Given the description of an element on the screen output the (x, y) to click on. 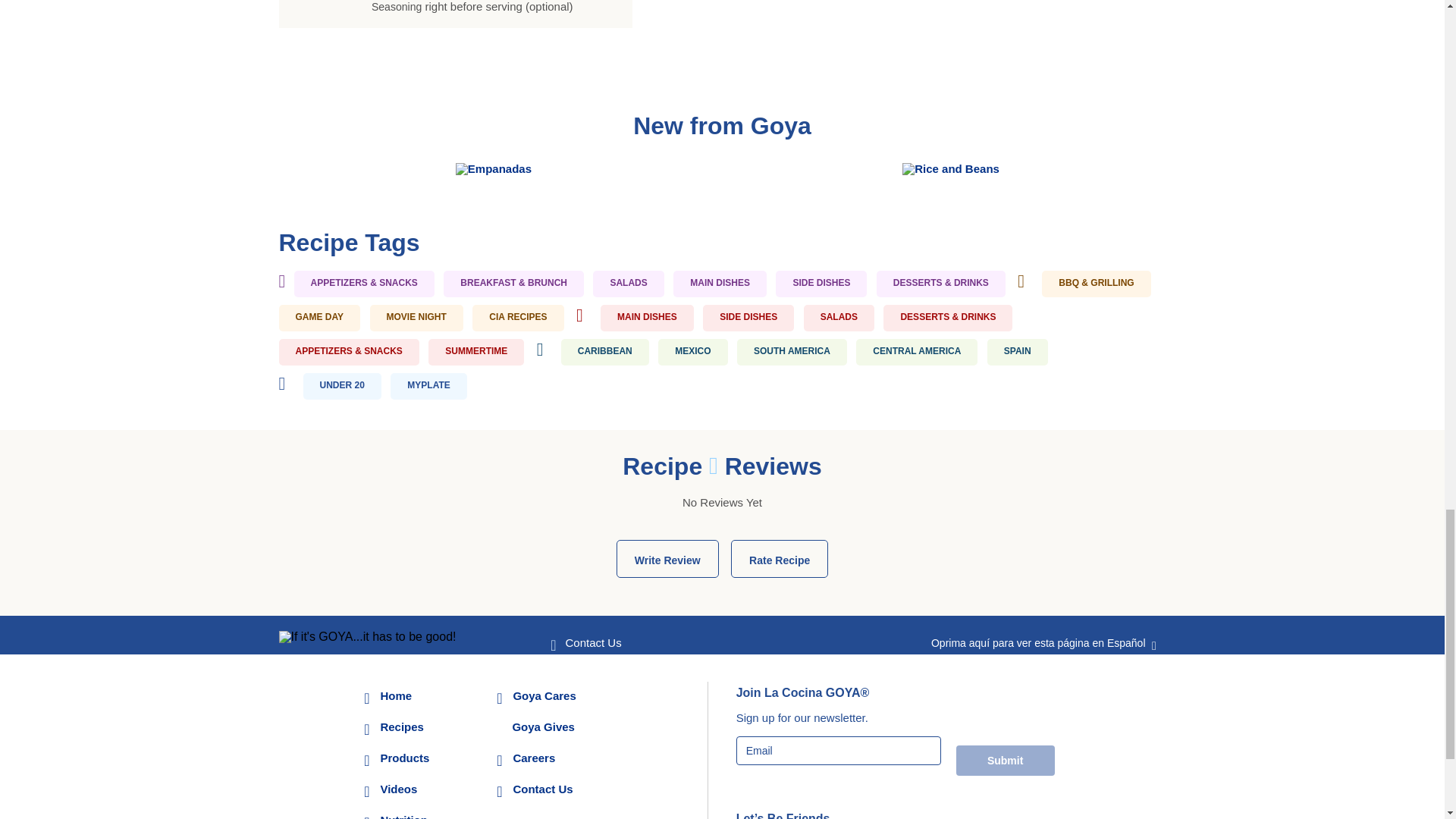
Rice and Beans (950, 168)
Empanadas (493, 168)
Adobo Light All-Purpose Seasoning (483, 6)
